Given the description of an element on the screen output the (x, y) to click on. 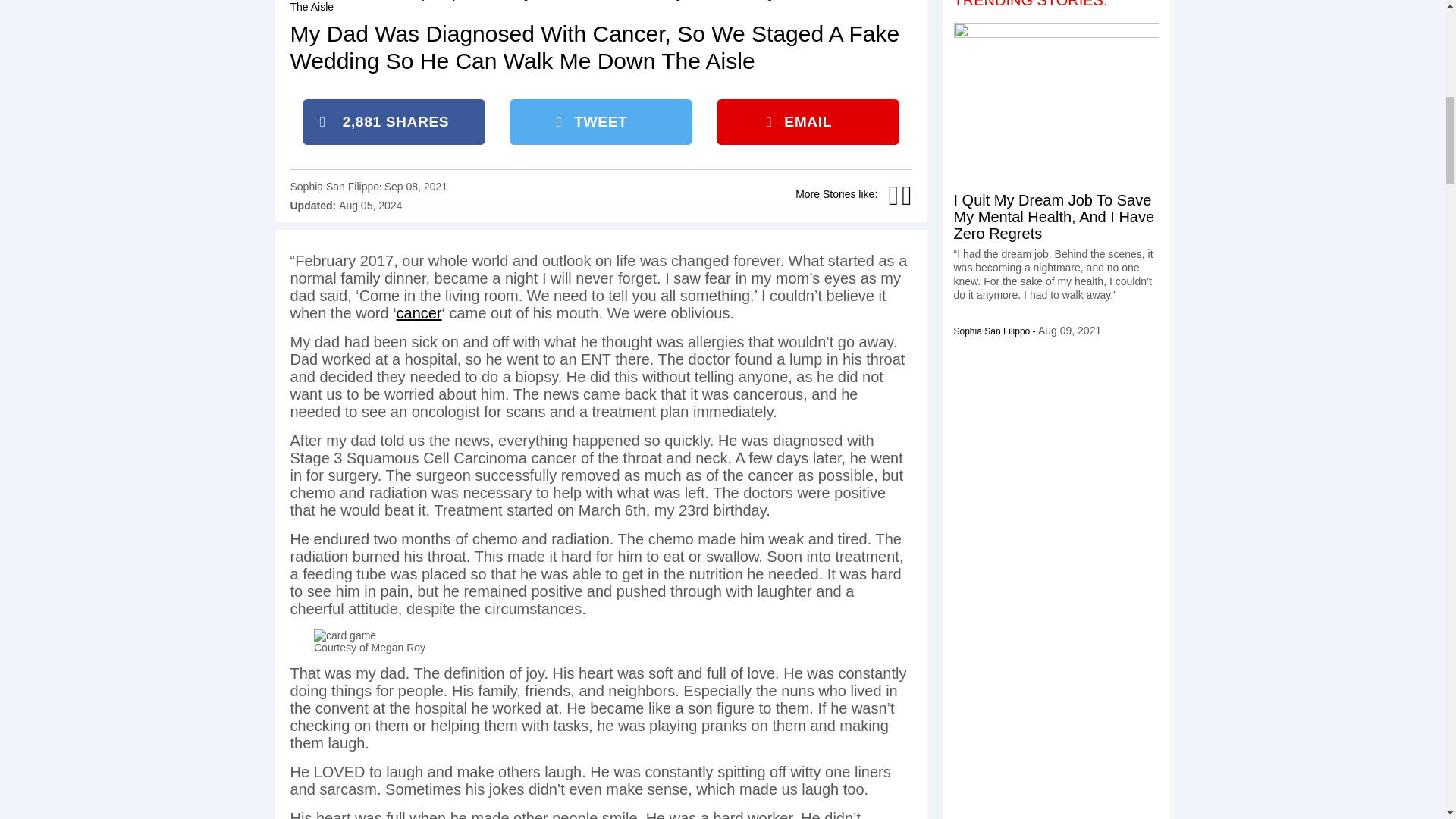
August 9, 2021 (1069, 330)
August 5, 2024 (370, 205)
September 8, 2021 (415, 186)
